Given the description of an element on the screen output the (x, y) to click on. 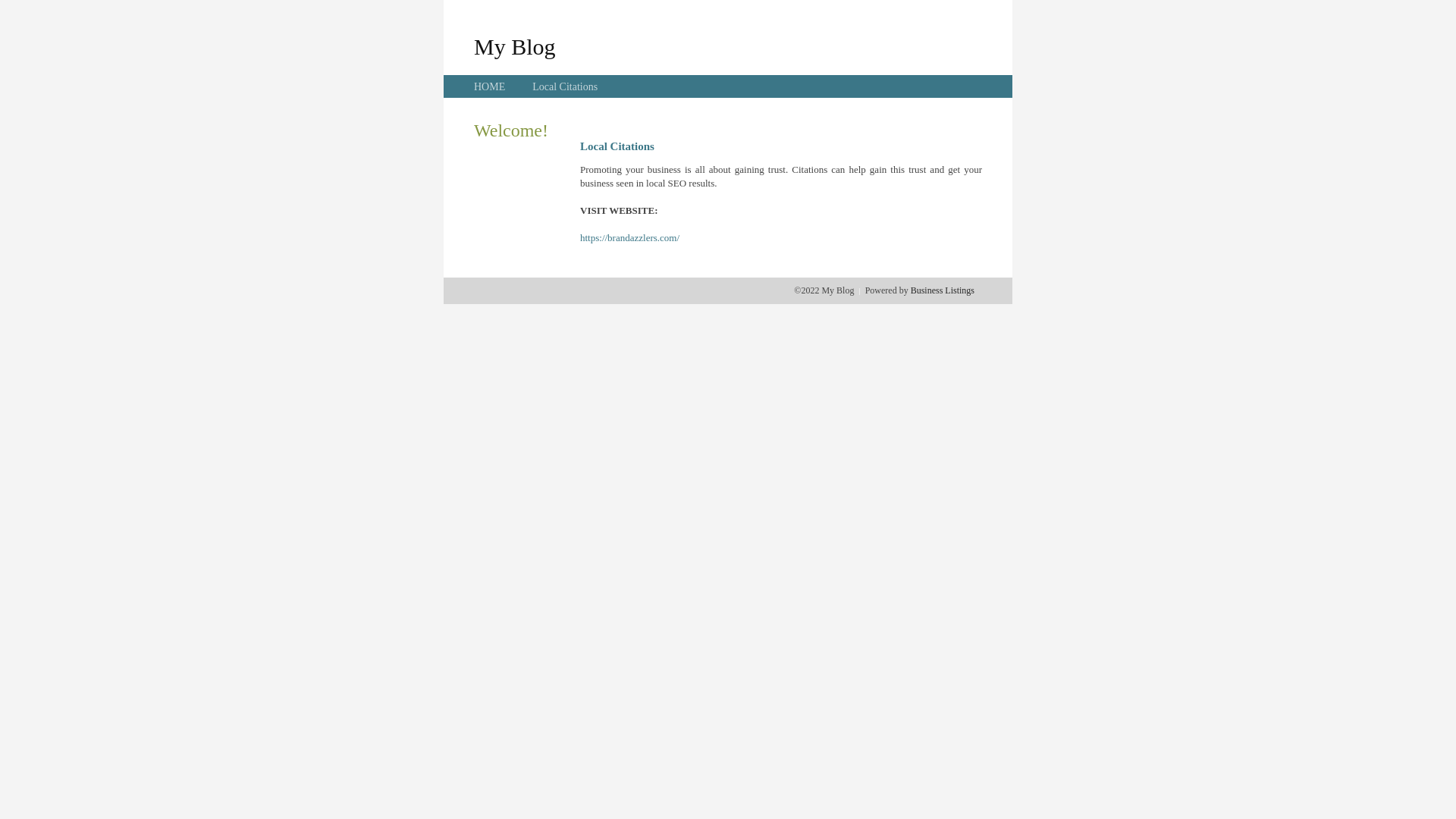
https://brandazzlers.com/ Element type: text (629, 237)
My Blog Element type: text (514, 46)
Business Listings Element type: text (942, 290)
Local Citations Element type: text (564, 86)
HOME Element type: text (489, 86)
